Given the description of an element on the screen output the (x, y) to click on. 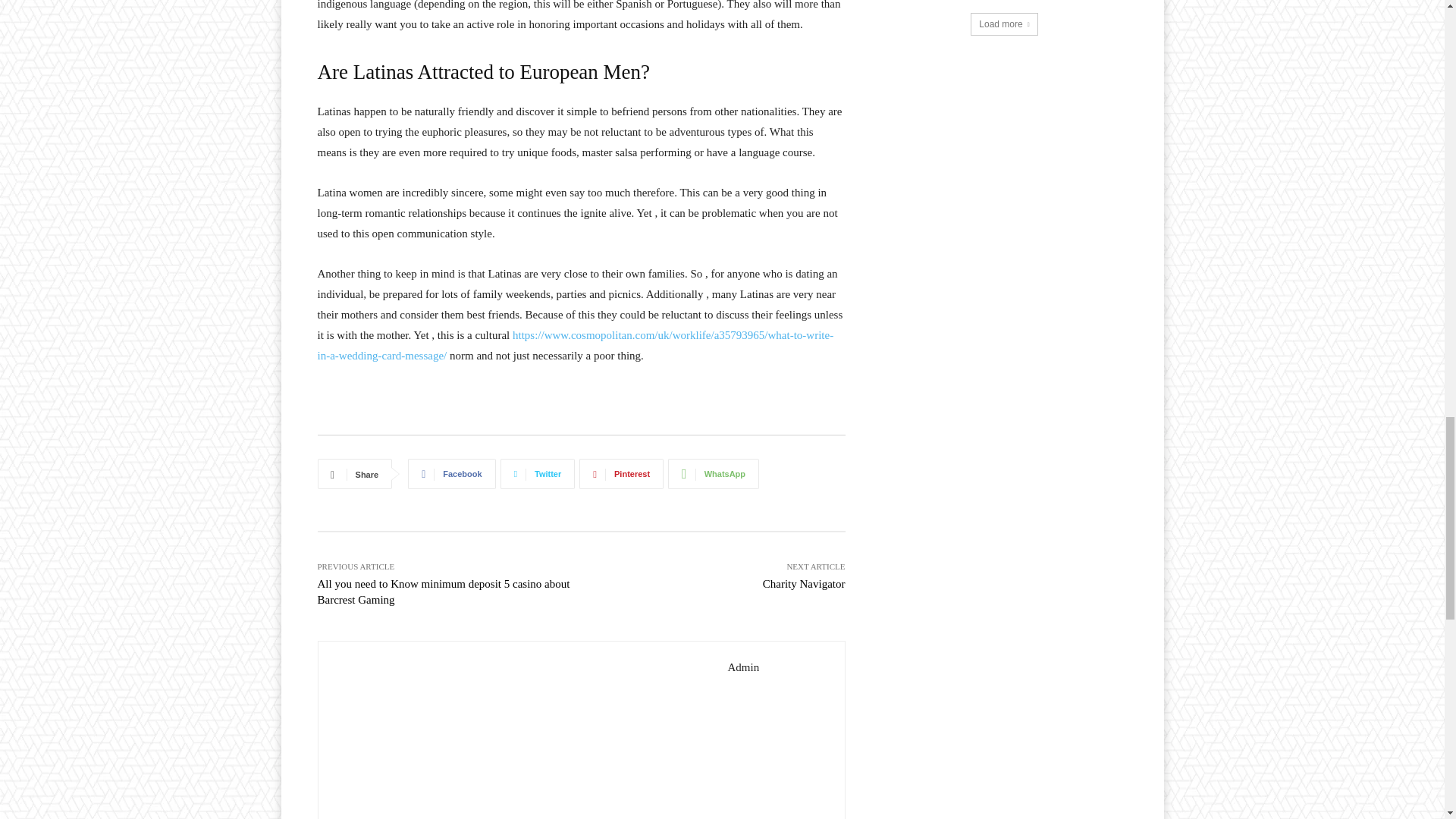
Twitter (537, 473)
Pinterest (621, 473)
Facebook (451, 473)
